Given the description of an element on the screen output the (x, y) to click on. 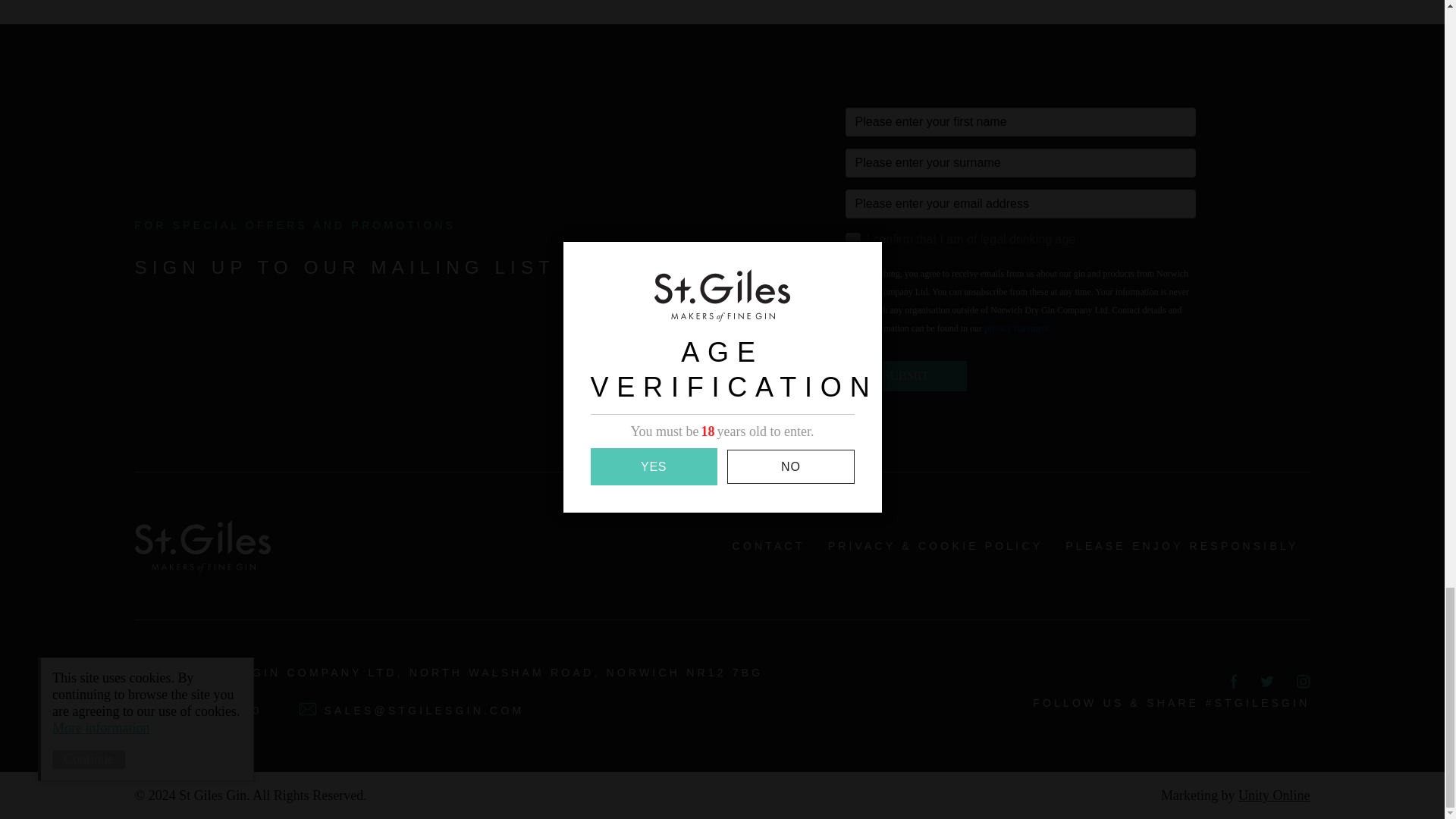
01603 737460 (198, 710)
St Giles Gin (202, 545)
CONTACT (768, 545)
Unity Online (1274, 795)
